Given the description of an element on the screen output the (x, y) to click on. 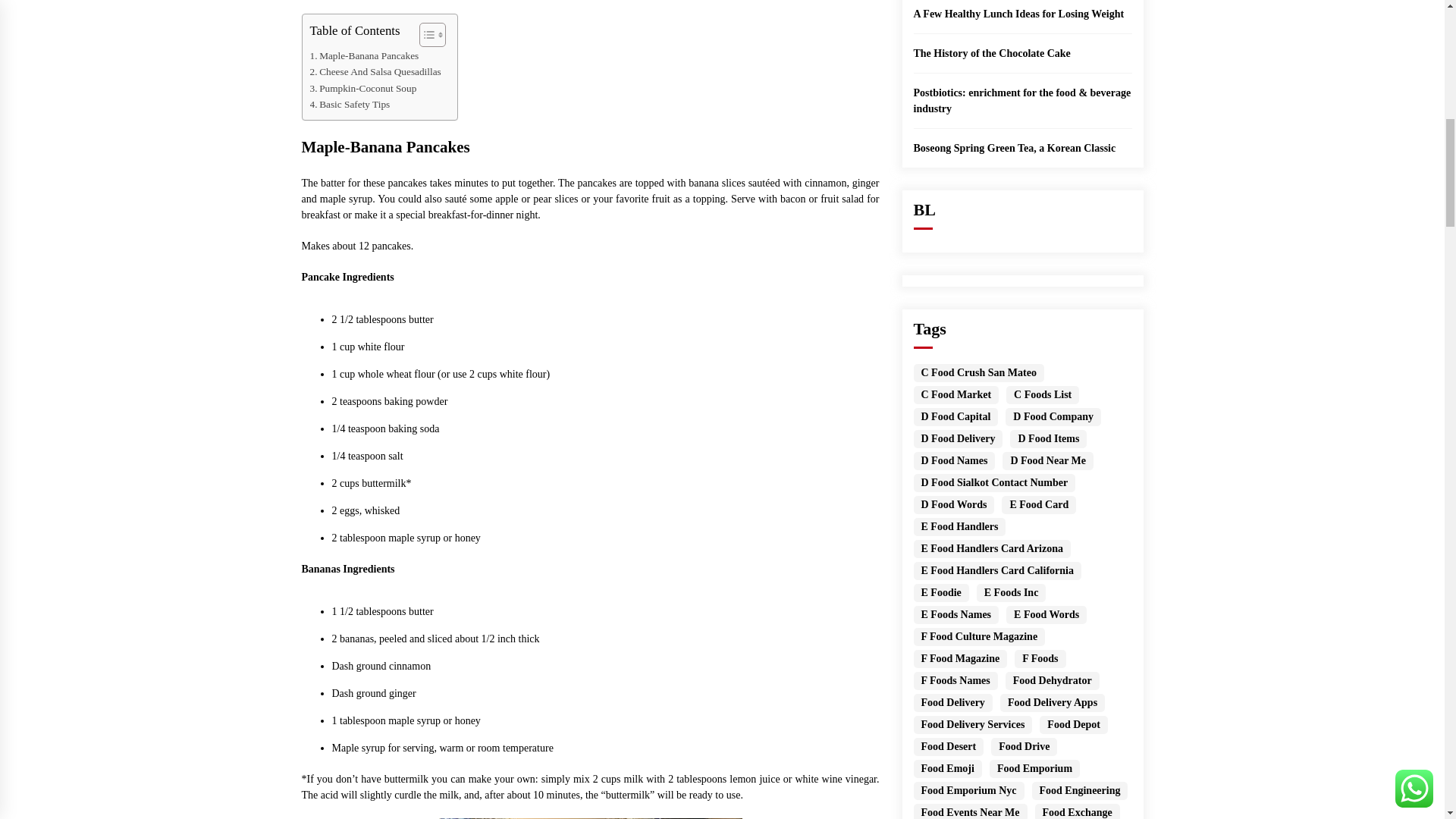
Maple-Banana Pancakes (363, 55)
Pumpkin-Coconut Soup (362, 88)
Basic Safety Tips (349, 104)
Cheese And Salsa Quesadillas (374, 71)
